Given the description of an element on the screen output the (x, y) to click on. 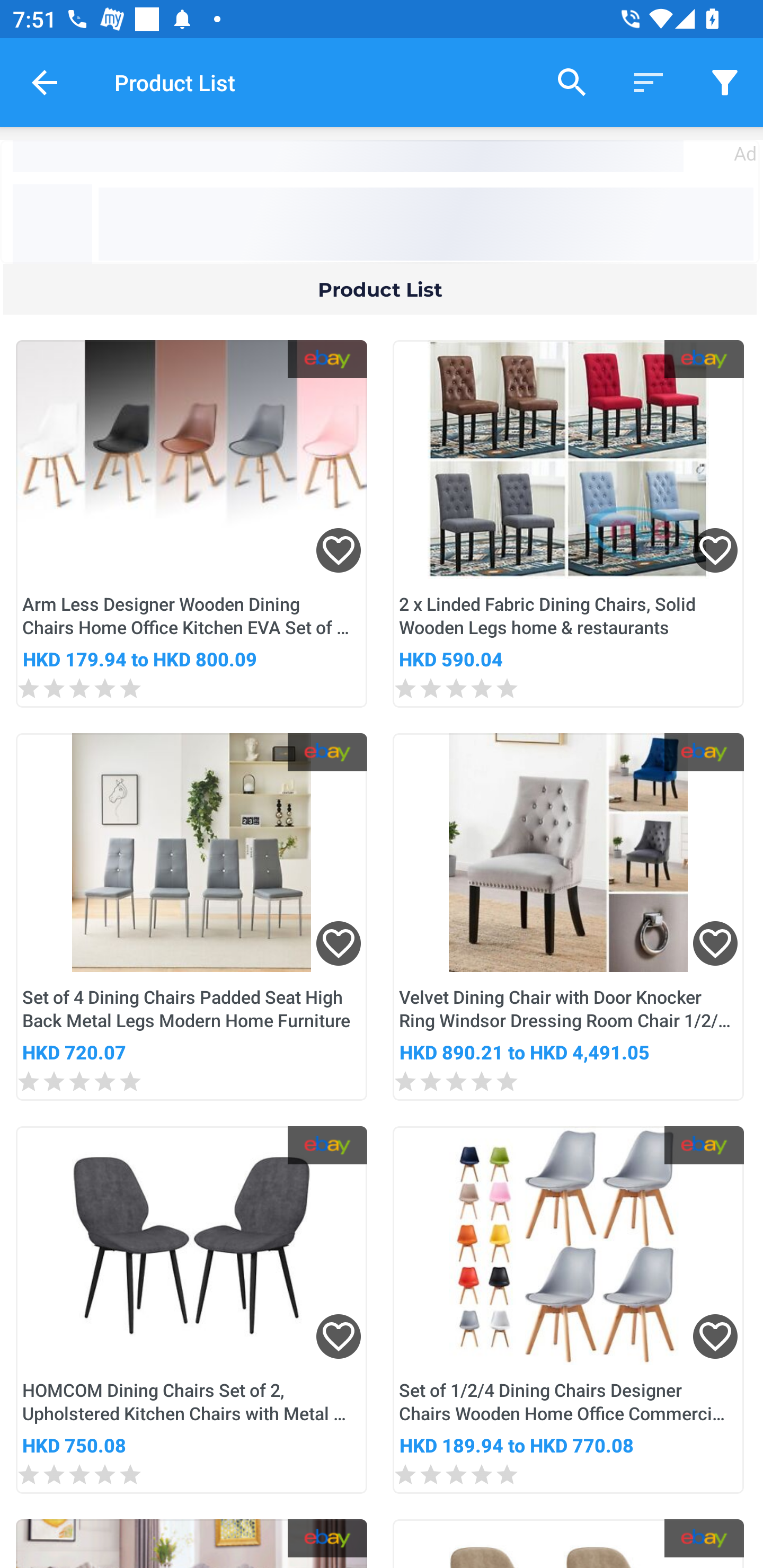
Navigate up (44, 82)
Search (572, 81)
short (648, 81)
short (724, 81)
